Given the description of an element on the screen output the (x, y) to click on. 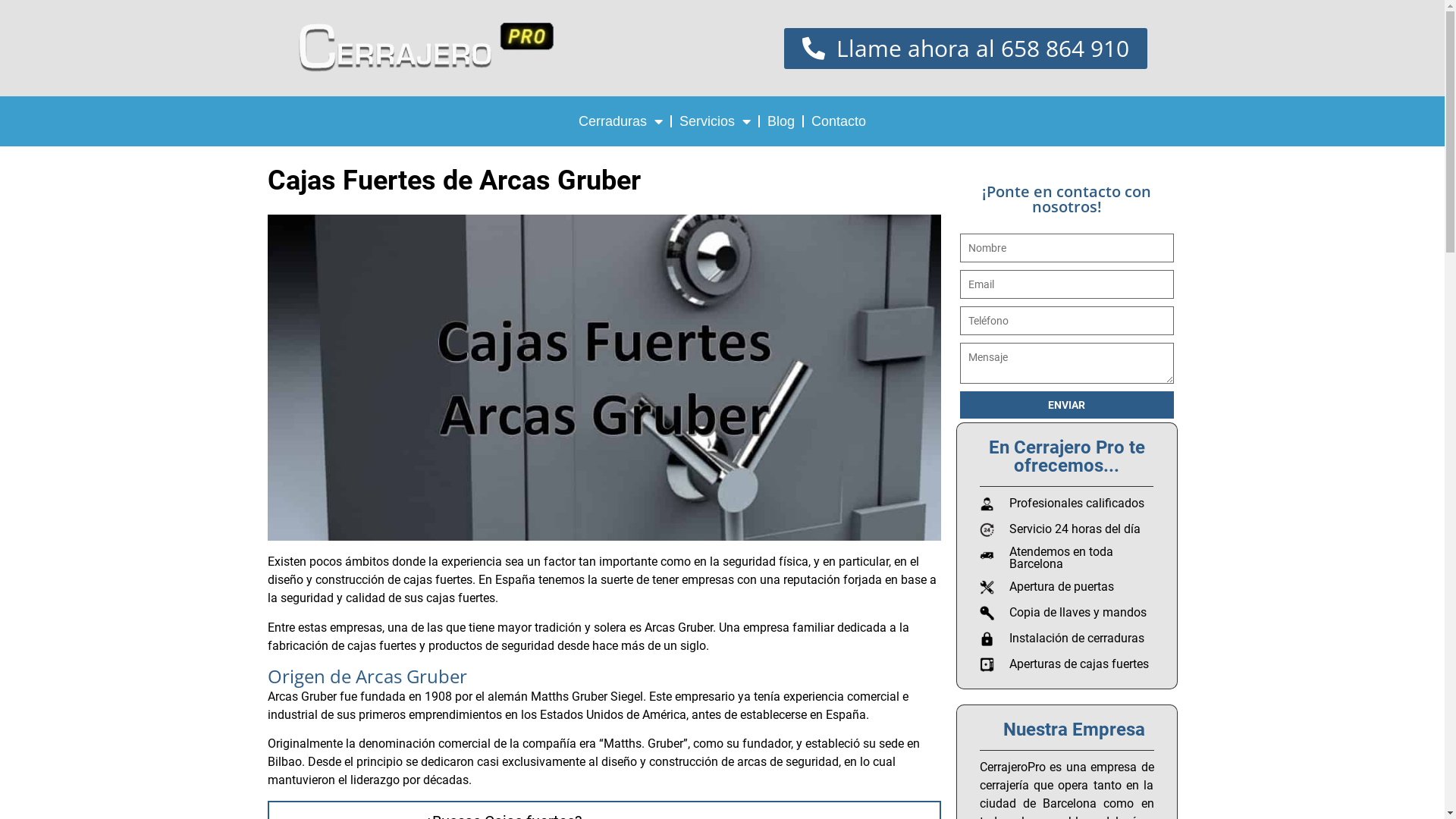
Enviar Element type: text (1066, 404)
Cerraduras Element type: text (620, 120)
Contacto Element type: text (838, 120)
Servicios Element type: text (714, 120)
Blog Element type: text (780, 120)
Llame ahora al 658 864 910 Element type: text (965, 47)
